Given the description of an element on the screen output the (x, y) to click on. 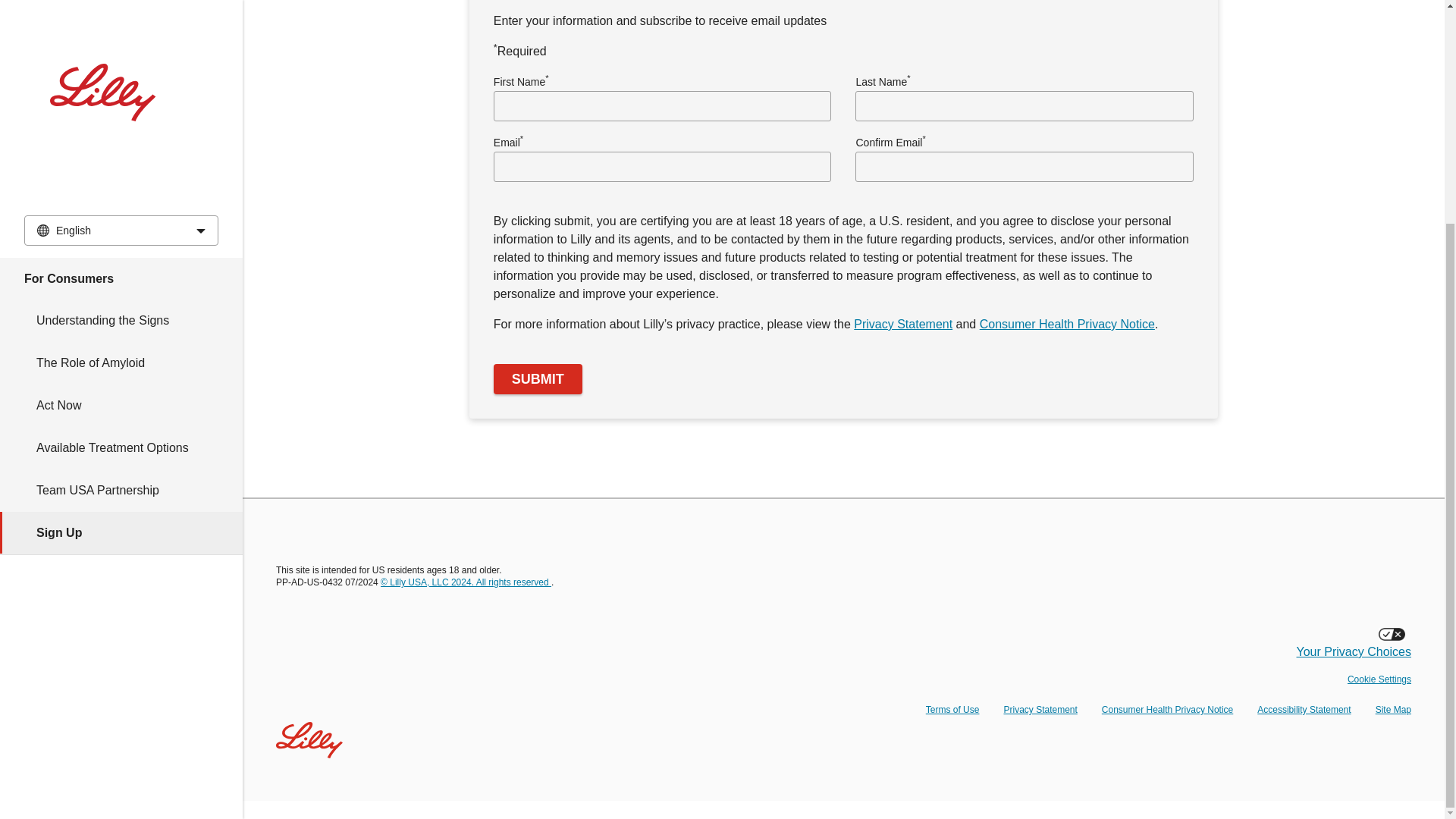
Sign Up (121, 234)
Privacy Statement (1040, 709)
The Role of Amyloid (121, 65)
Cookie Settings (1379, 679)
Team USA Partnership (121, 192)
Terms of Use (952, 709)
Understanding the Signs (121, 22)
Consumer Health Privacy Notice (1066, 323)
Act Now (121, 107)
